Given the description of an element on the screen output the (x, y) to click on. 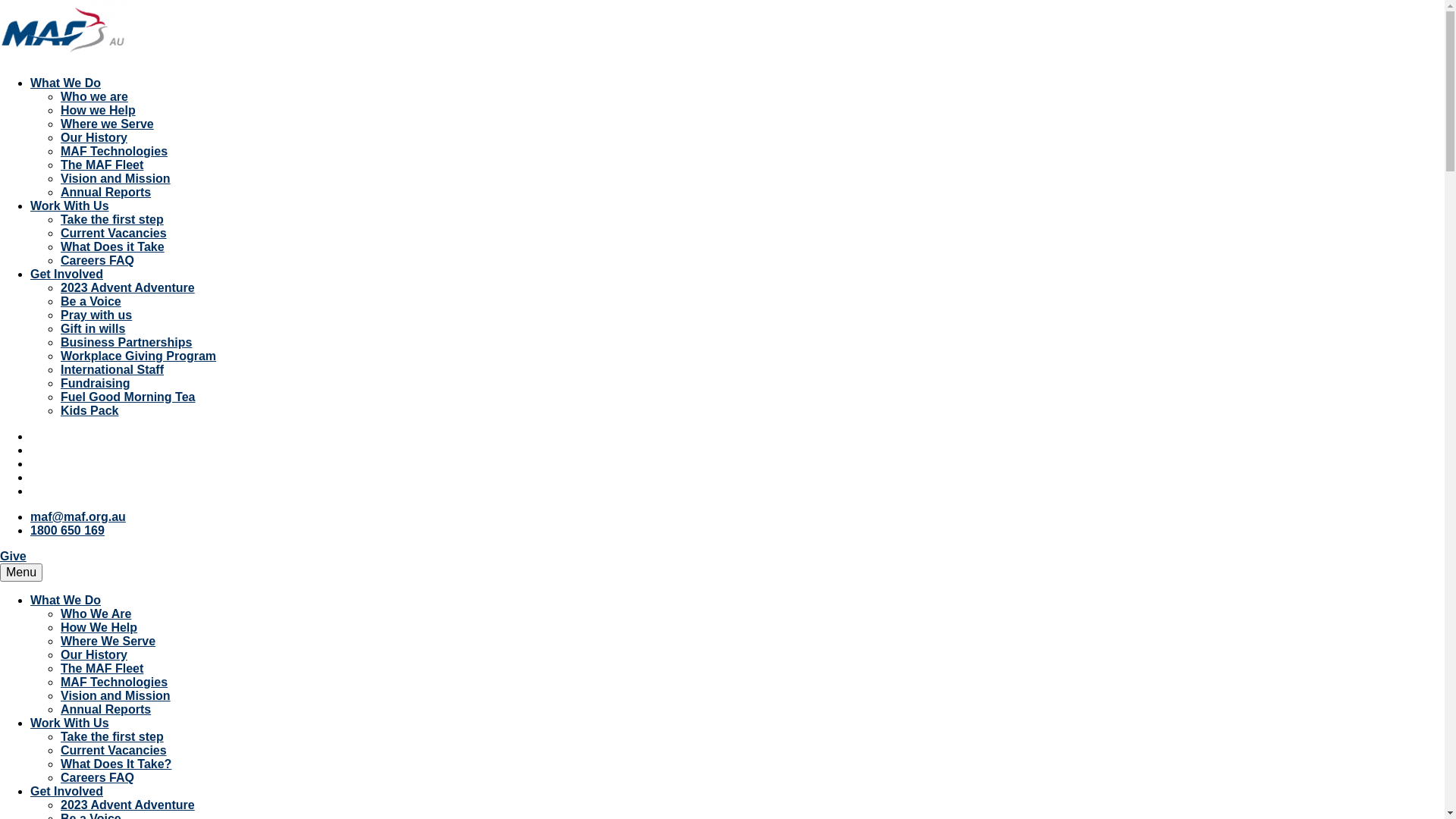
Vision and Mission Element type: text (115, 695)
Menu Element type: text (21, 572)
2023 Advent Adventure Element type: text (127, 804)
Current Vacancies Element type: text (113, 749)
MAF Technologies Element type: text (113, 681)
Get Involved Element type: text (66, 273)
How we Help Element type: text (97, 109)
Business Partnerships Element type: text (125, 341)
Kids Pack Element type: text (89, 410)
What Does it Take Element type: text (112, 246)
Annual Reports Element type: text (105, 191)
The MAF Fleet Element type: text (101, 164)
Where We Serve Element type: text (107, 640)
Our History Element type: text (93, 137)
Fuel Good Morning Tea Element type: text (127, 396)
Pray with us Element type: text (95, 314)
Gift in wills Element type: text (92, 328)
1800 650 169 Element type: text (67, 530)
International Staff Element type: text (111, 369)
Work With Us Element type: text (69, 205)
Be a Voice Element type: text (90, 300)
Where we Serve Element type: text (106, 123)
Workplace Giving Program Element type: text (138, 355)
Vision and Mission Element type: text (115, 178)
Fundraising Element type: text (95, 382)
Who We Are Element type: text (95, 613)
Annual Reports Element type: text (105, 708)
What We Do Element type: text (65, 82)
Who we are Element type: text (94, 96)
Careers FAQ Element type: text (97, 260)
maf@maf.org.au Element type: text (77, 516)
What We Do Element type: text (65, 599)
Give Element type: text (13, 555)
Careers FAQ Element type: text (97, 777)
Our History Element type: text (93, 654)
Work With Us Element type: text (69, 722)
MAF Technologies Element type: text (113, 150)
The MAF Fleet Element type: text (101, 668)
Get Involved Element type: text (66, 790)
2023 Advent Adventure Element type: text (127, 287)
Take the first step Element type: text (111, 736)
What Does It Take? Element type: text (115, 763)
Current Vacancies Element type: text (113, 232)
How We Help Element type: text (98, 627)
Take the first step Element type: text (111, 219)
